Given the description of an element on the screen output the (x, y) to click on. 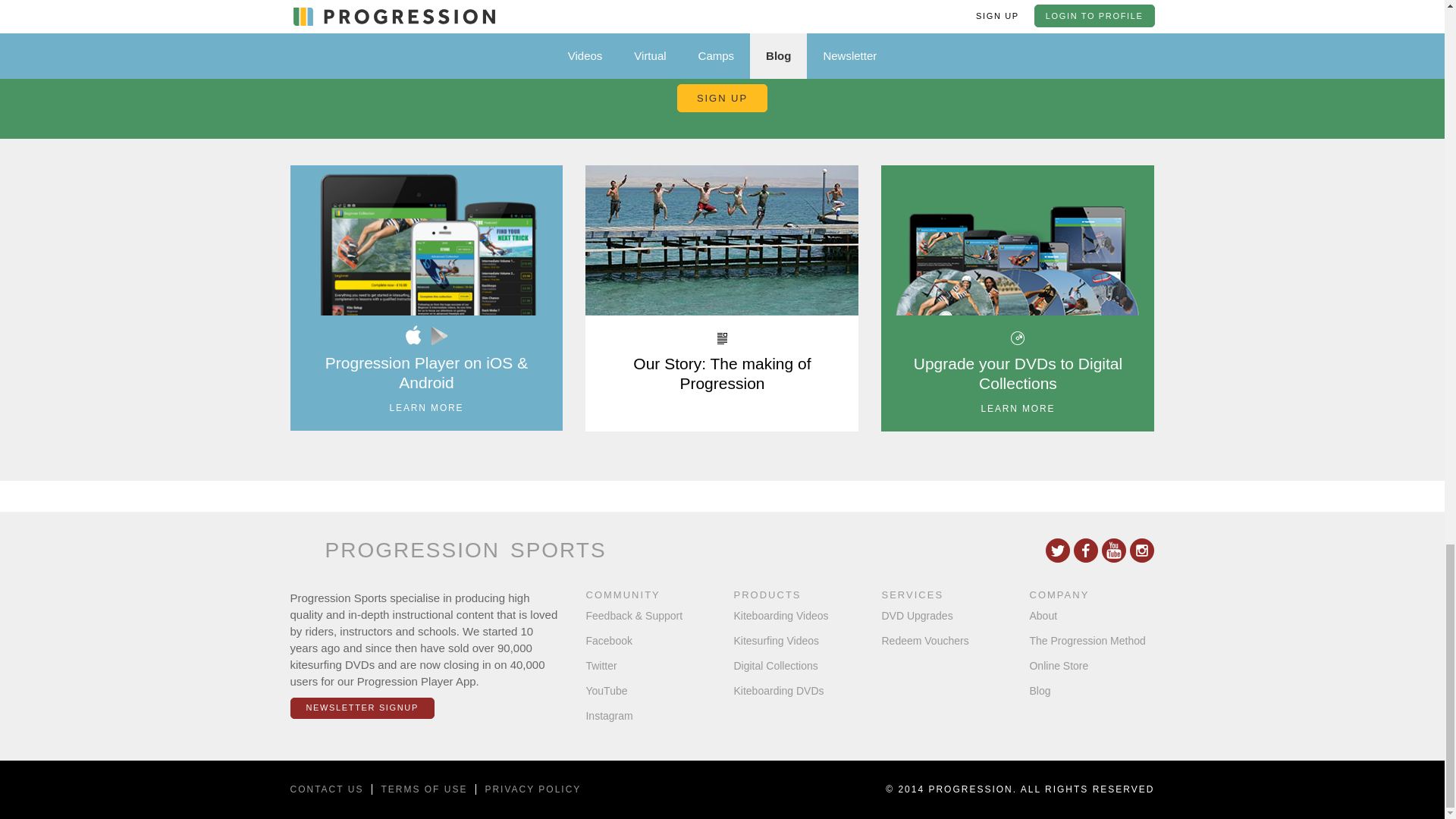
SIGN UP (722, 98)
